Given the description of an element on the screen output the (x, y) to click on. 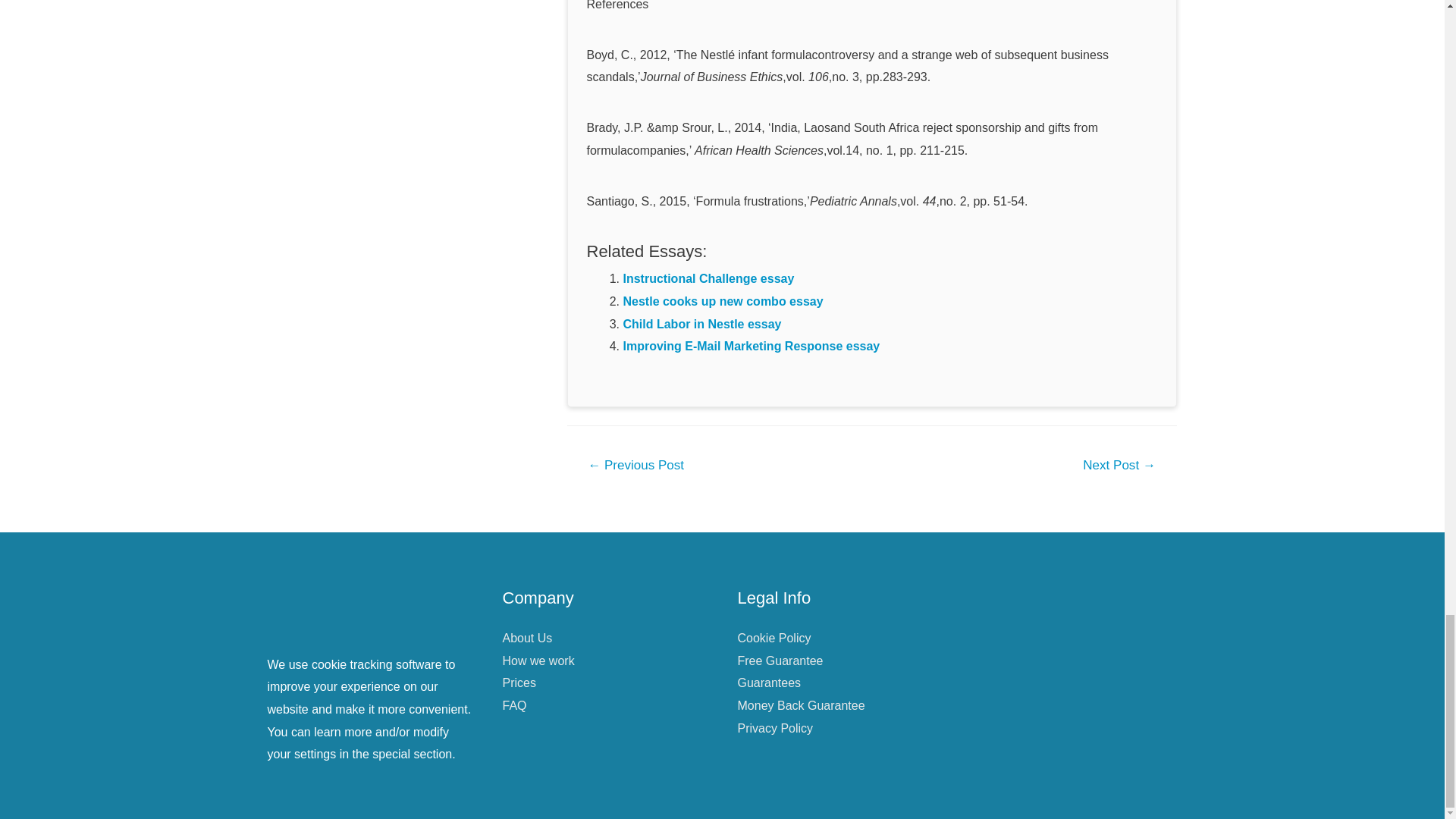
FAQ (513, 705)
Privacy Policy (774, 727)
Nestle cooks up new combo essay (723, 300)
About Us (526, 637)
Nestle cooks up new combo essay (723, 300)
Improving E-Mail Marketing Response essay (751, 345)
Child Labor in Nestle essay (702, 323)
How we work (537, 660)
Child Labor in Nestle essay (702, 323)
Money Back Guarantee (800, 705)
Instructional Challenge essay (708, 278)
Improving E-Mail Marketing Response essay (751, 345)
Instructional Challenge essay (708, 278)
Free Guarantee (779, 660)
Cookie Policy (773, 637)
